Given the description of an element on the screen output the (x, y) to click on. 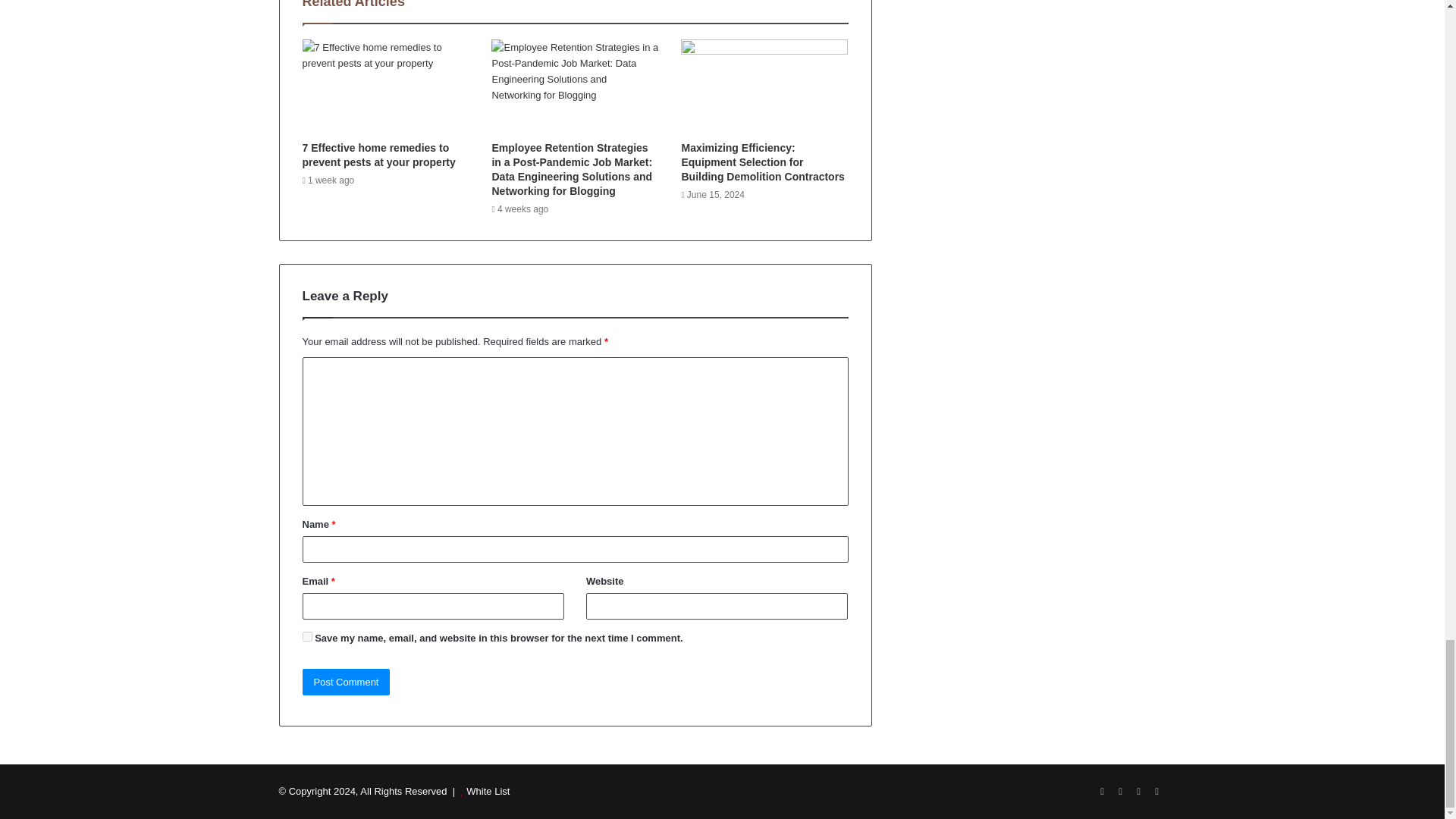
yes (306, 636)
Post Comment (345, 682)
